Given the description of an element on the screen output the (x, y) to click on. 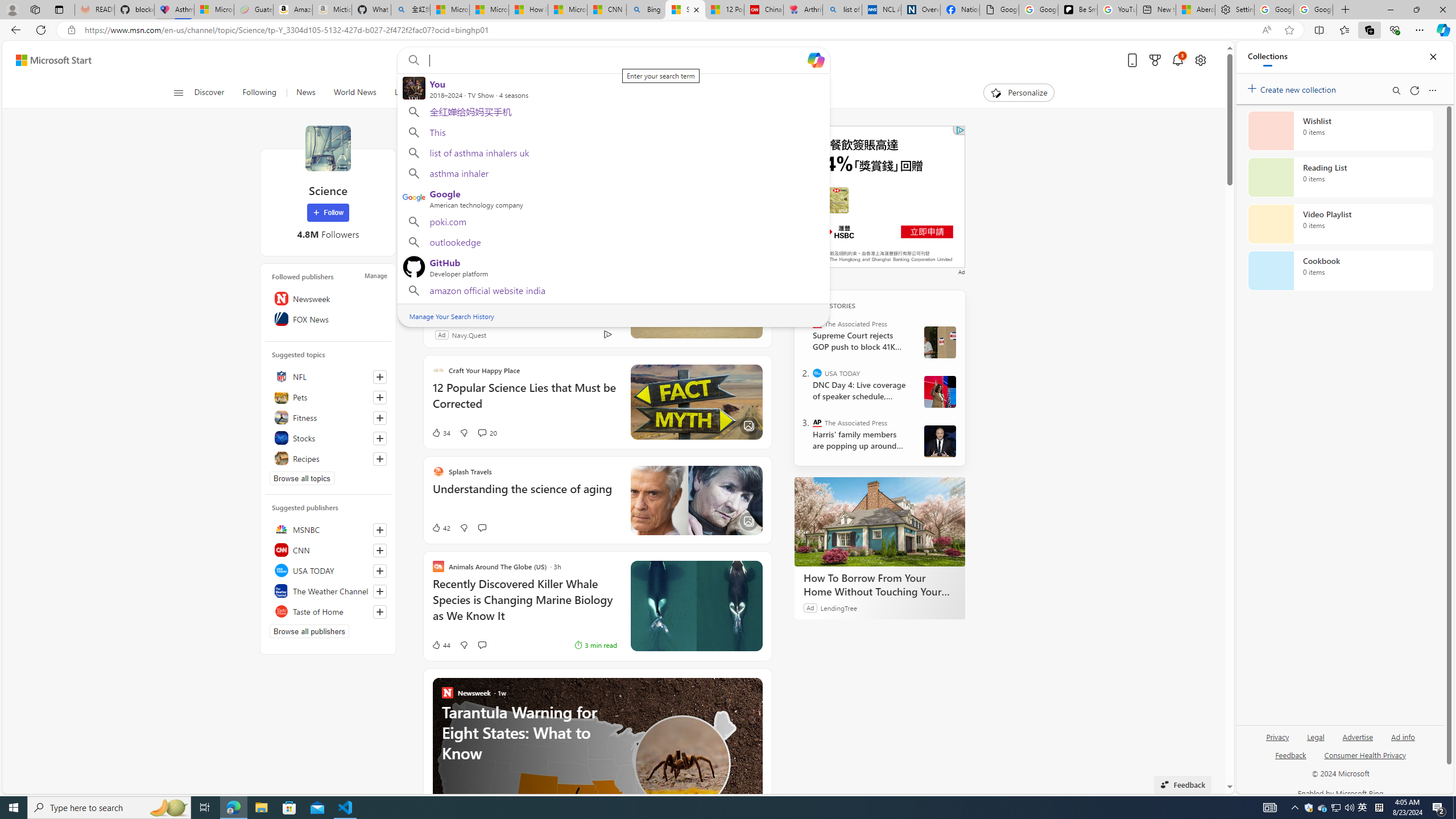
Feedback (1290, 754)
Feedback (1291, 759)
Wishlist collection, 0 items (1339, 130)
NCL Adult Asthma Inhaler Choice Guideline (881, 9)
Google Analytics Opt-out Browser Add-on Download Page (999, 9)
Asthma Inhalers: Names and Types (174, 9)
